Given the description of an element on the screen output the (x, y) to click on. 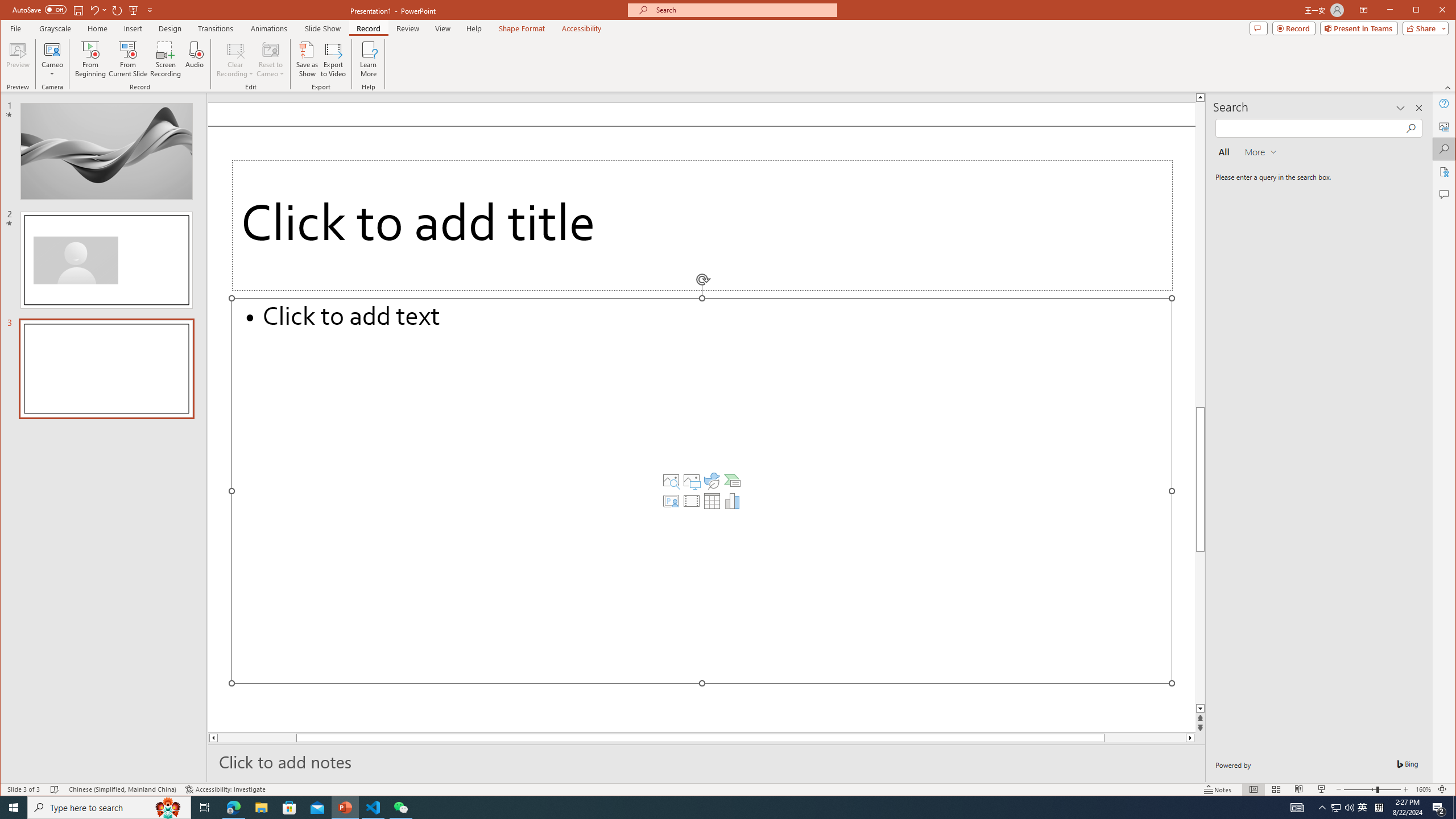
Alt Text (1444, 125)
Review (407, 28)
